Given the description of an element on the screen output the (x, y) to click on. 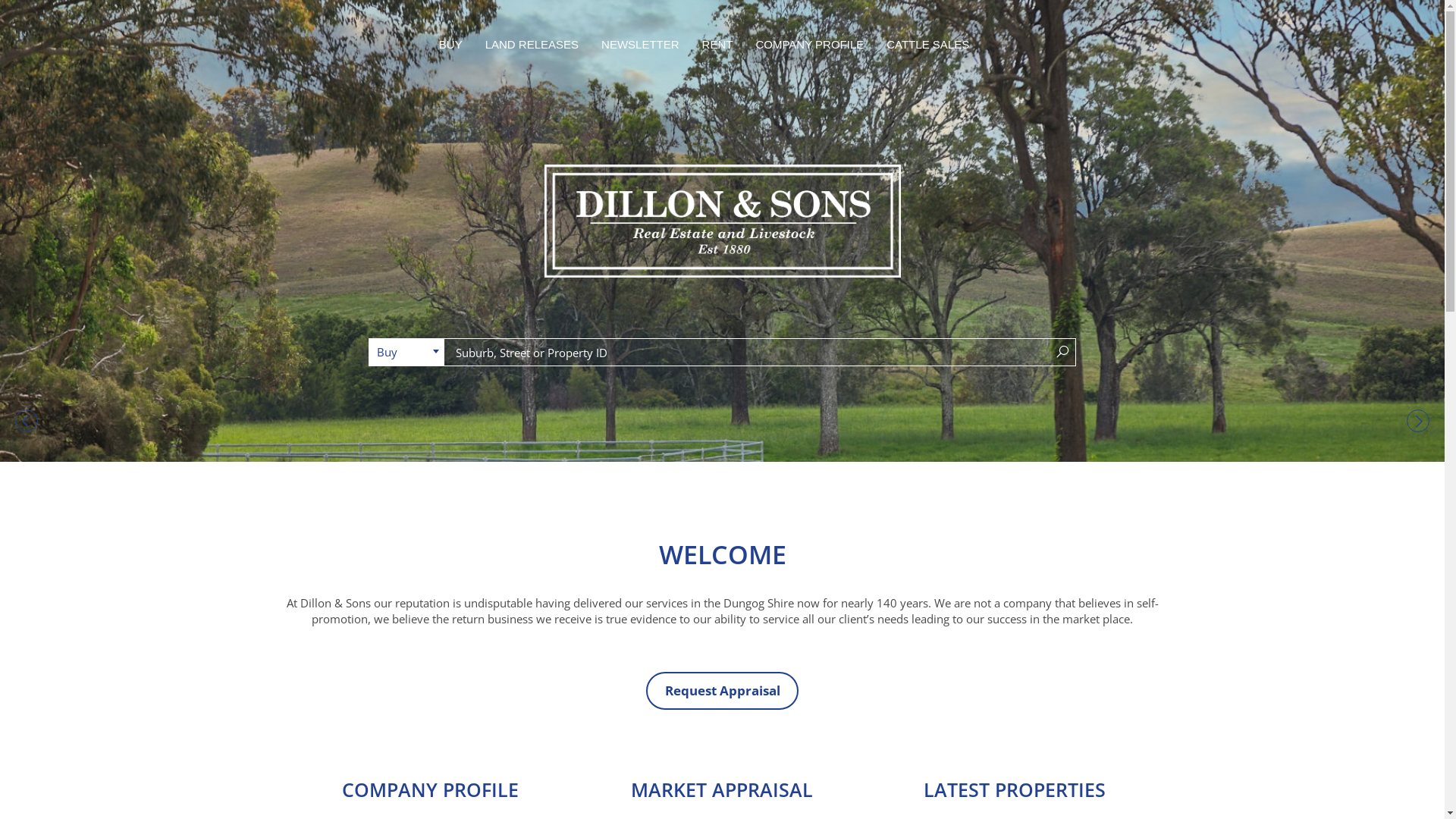
Request Appraisal Element type: text (722, 690)
NEWSLETTER Element type: text (639, 44)
BUY Element type: text (450, 44)
CATTLE SALES Element type: text (927, 44)
RENT Element type: text (717, 44)
LAND RELEASES Element type: text (531, 44)
COMPANY PROFILE Element type: text (809, 44)
